Given the description of an element on the screen output the (x, y) to click on. 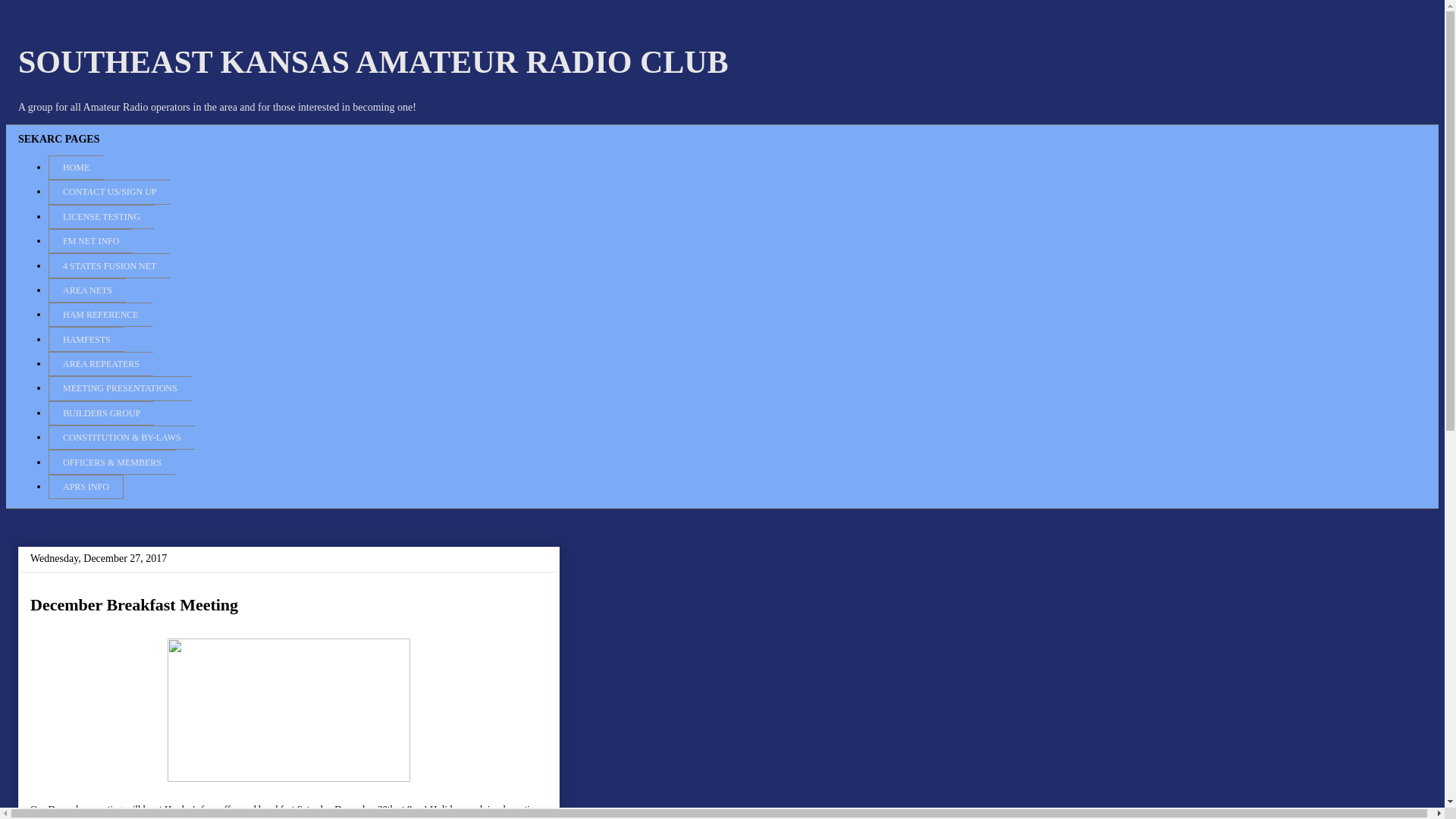
MEETING PRESENTATIONS (119, 387)
FM NET INFO (90, 241)
SOUTHEAST KANSAS AMATEUR RADIO CLUB (373, 62)
HAM REFERENCE (100, 314)
AREA REPEATERS (100, 363)
4 STATES FUSION NET (109, 265)
APRS INFO (85, 486)
HOME (75, 167)
AREA NETS (86, 290)
LICENSE TESTING (101, 216)
HAMFESTS (85, 338)
BUILDERS GROUP (101, 413)
